Given the description of an element on the screen output the (x, y) to click on. 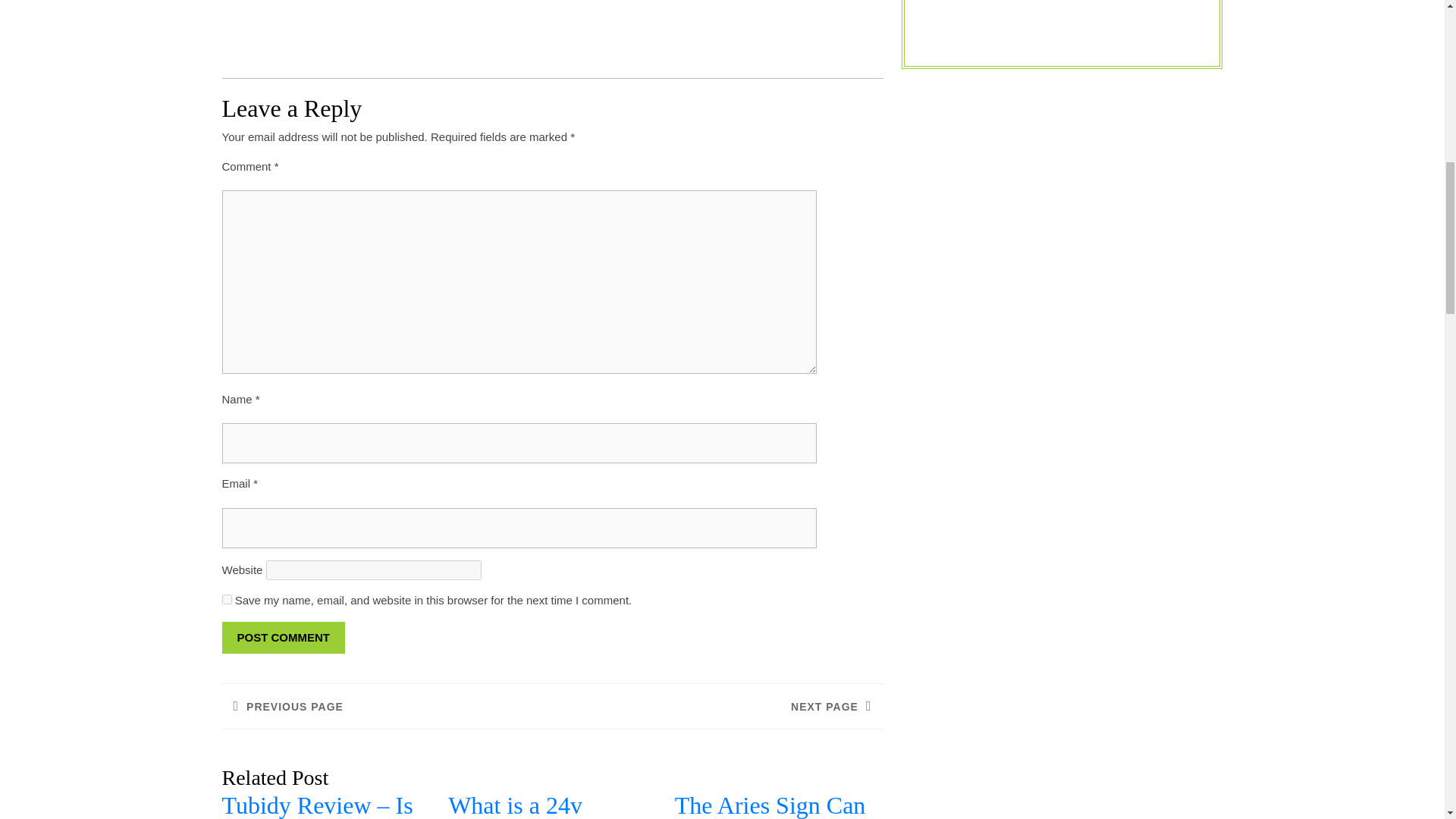
yes (226, 599)
Post Comment (386, 705)
Post Comment (283, 637)
